Given the description of an element on the screen output the (x, y) to click on. 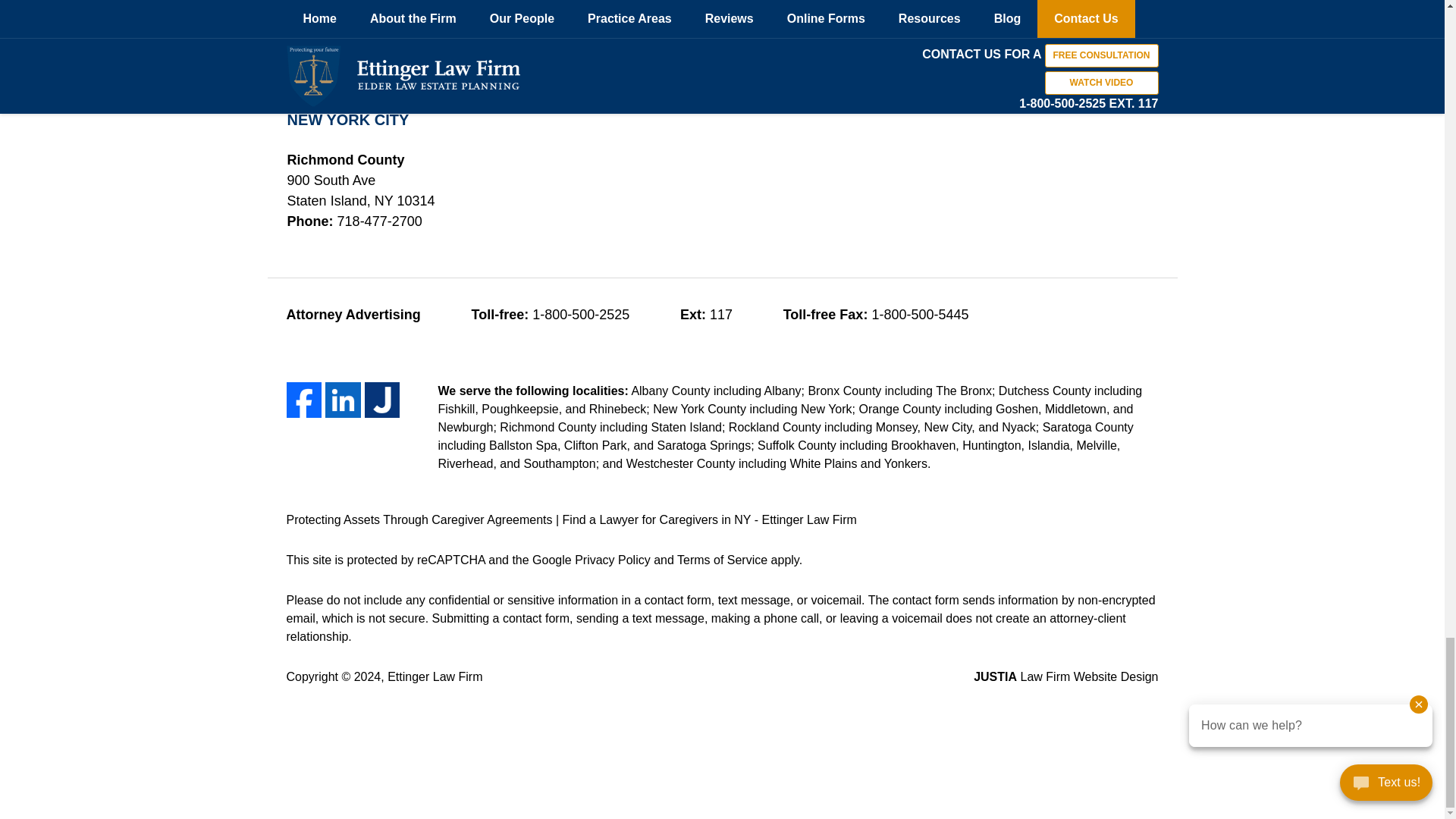
LinkedIn (342, 399)
Justia (382, 399)
Facebook (303, 399)
